Given the description of an element on the screen output the (x, y) to click on. 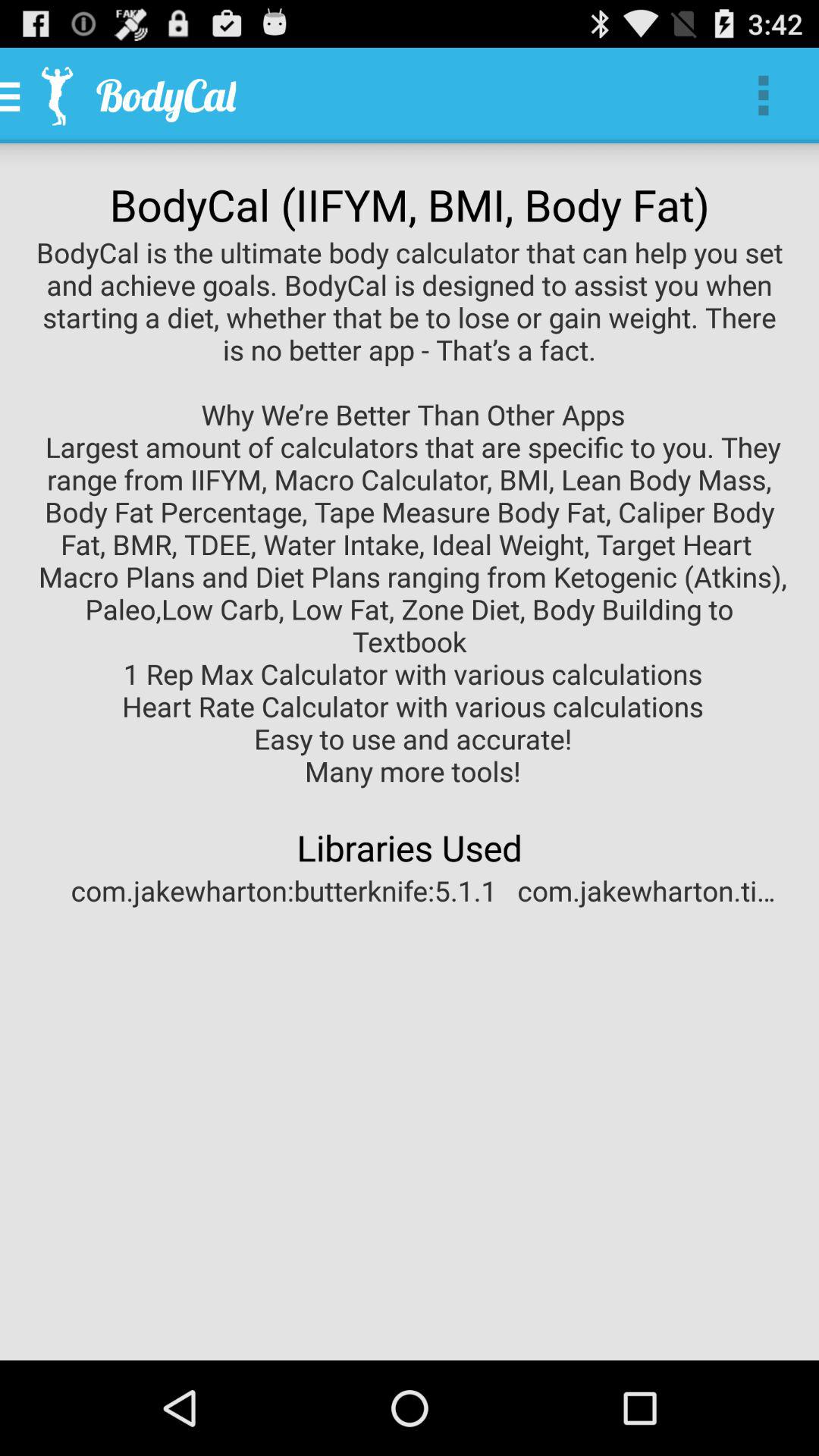
select icon at the top right corner (763, 95)
